Given the description of an element on the screen output the (x, y) to click on. 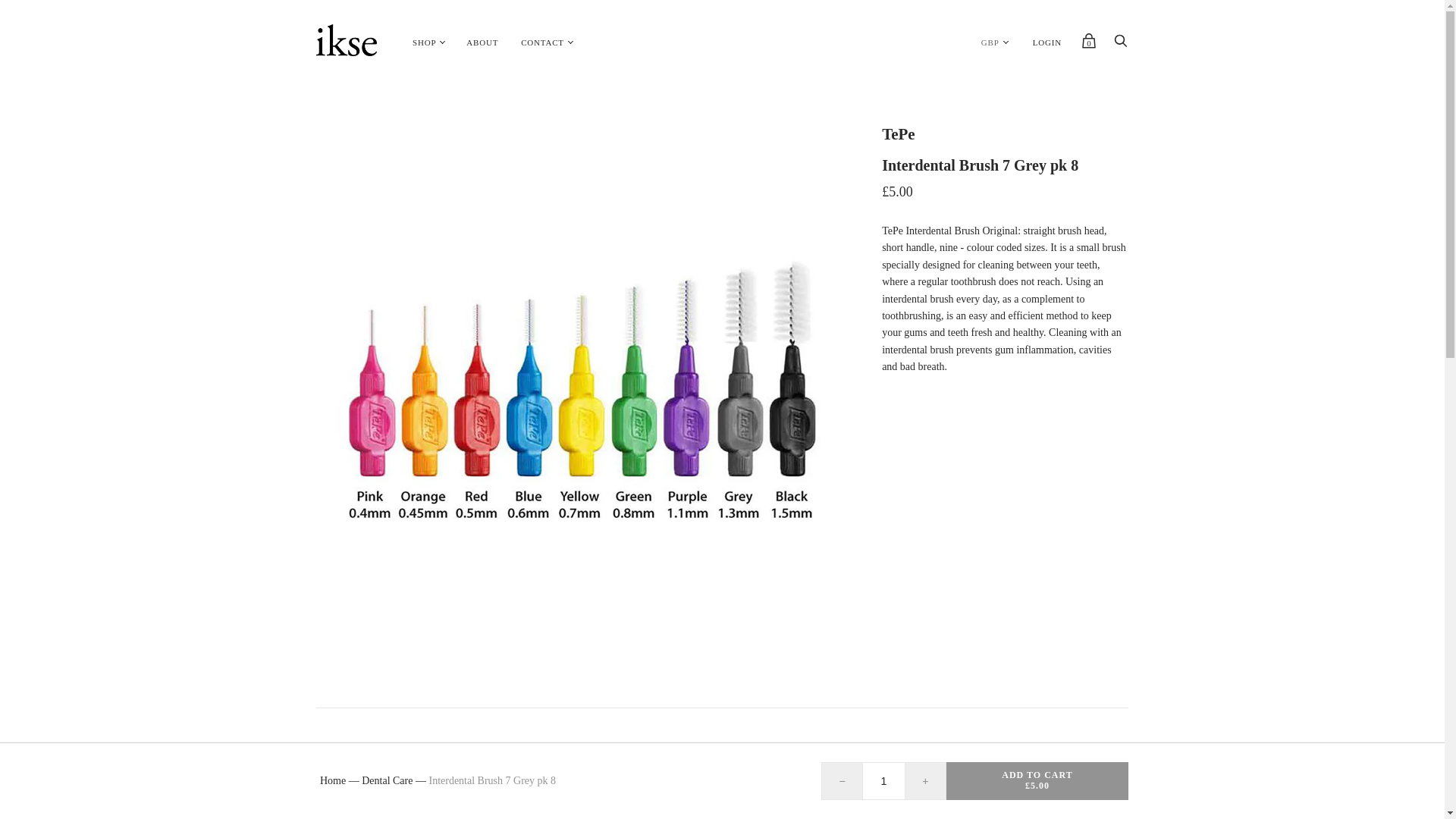
1 (883, 780)
ABOUT (481, 42)
LOGIN (1047, 42)
Home (333, 780)
SHOP (423, 42)
CONTACT (542, 42)
0 (1088, 44)
